Given the description of an element on the screen output the (x, y) to click on. 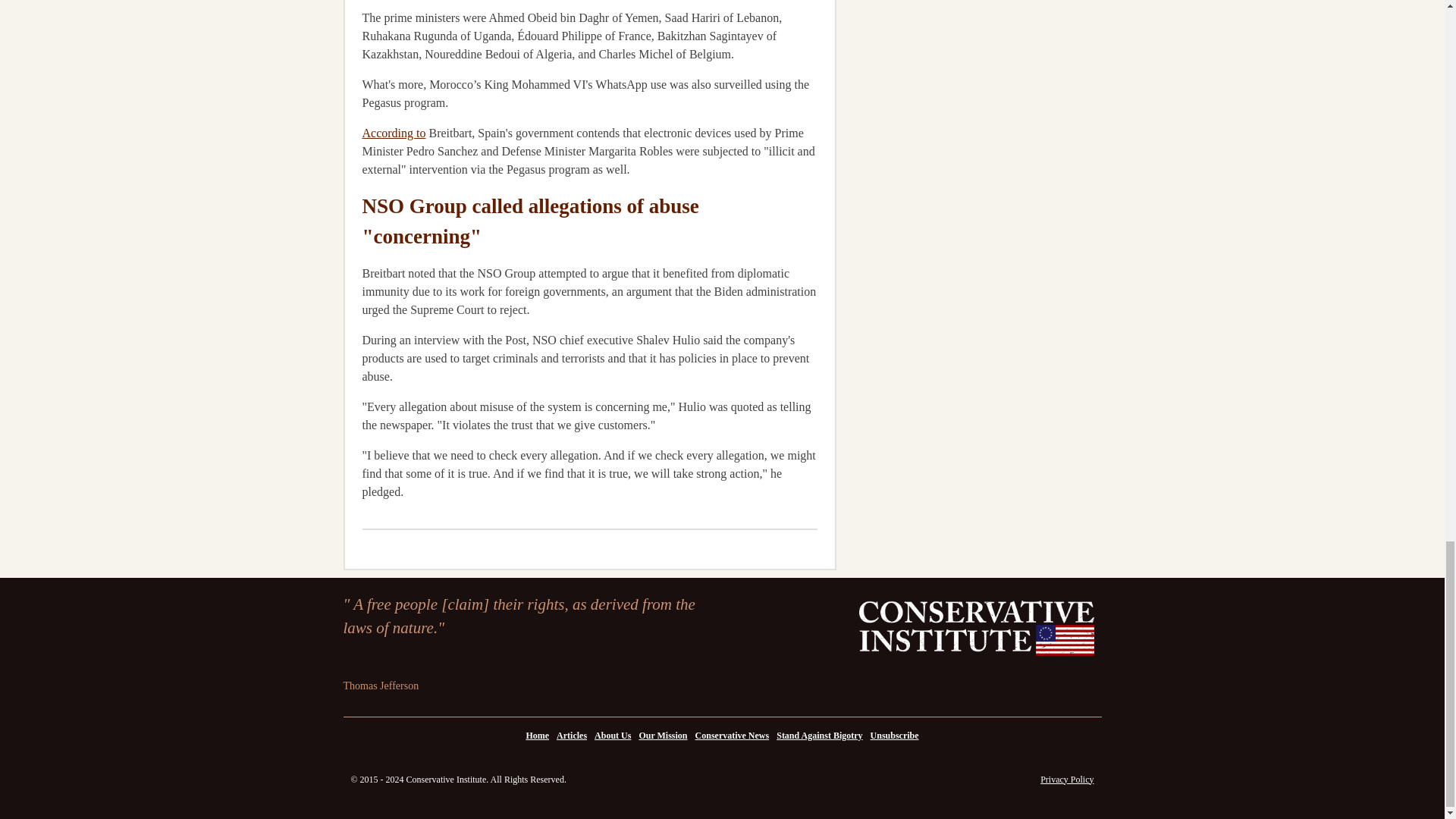
Conservative News (732, 735)
Stand Against Bigotry (819, 735)
According to (394, 132)
About Us (612, 735)
Articles (572, 735)
Our Mission (662, 735)
Home (537, 735)
Unsubscribe (894, 735)
Privacy Policy (1066, 778)
